Given the description of an element on the screen output the (x, y) to click on. 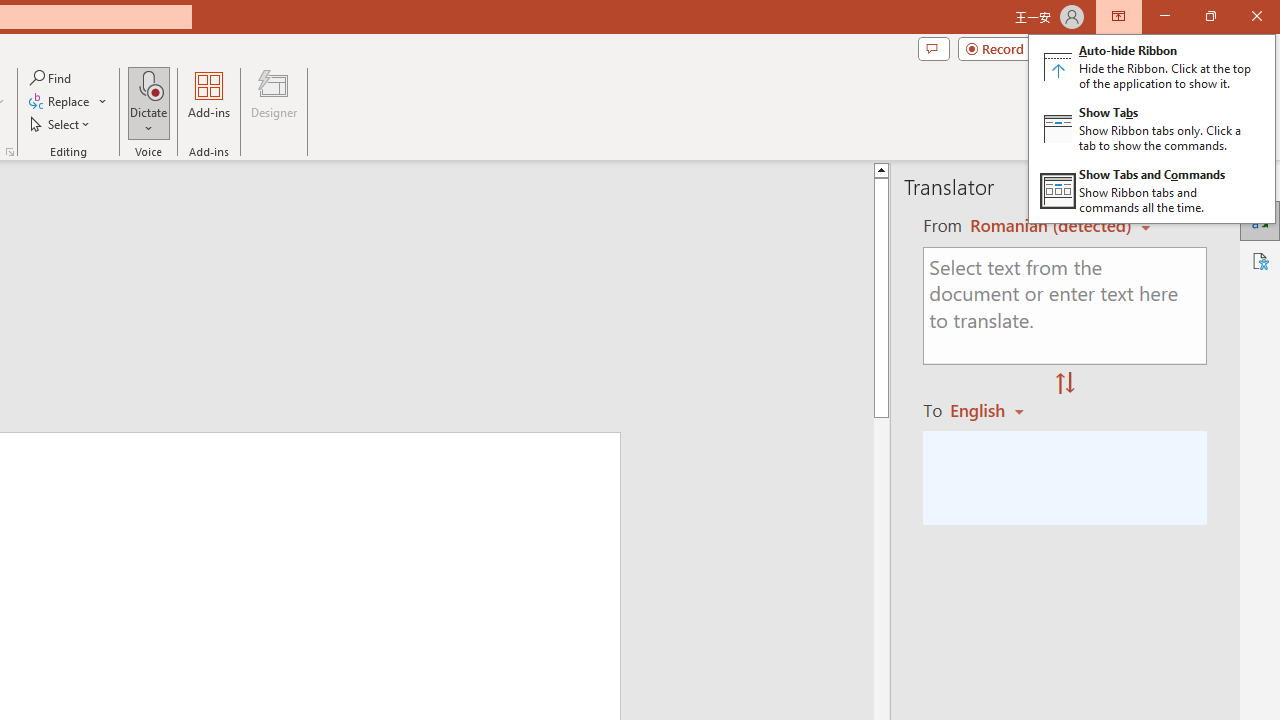
Romanian (994, 409)
